Given the description of an element on the screen output the (x, y) to click on. 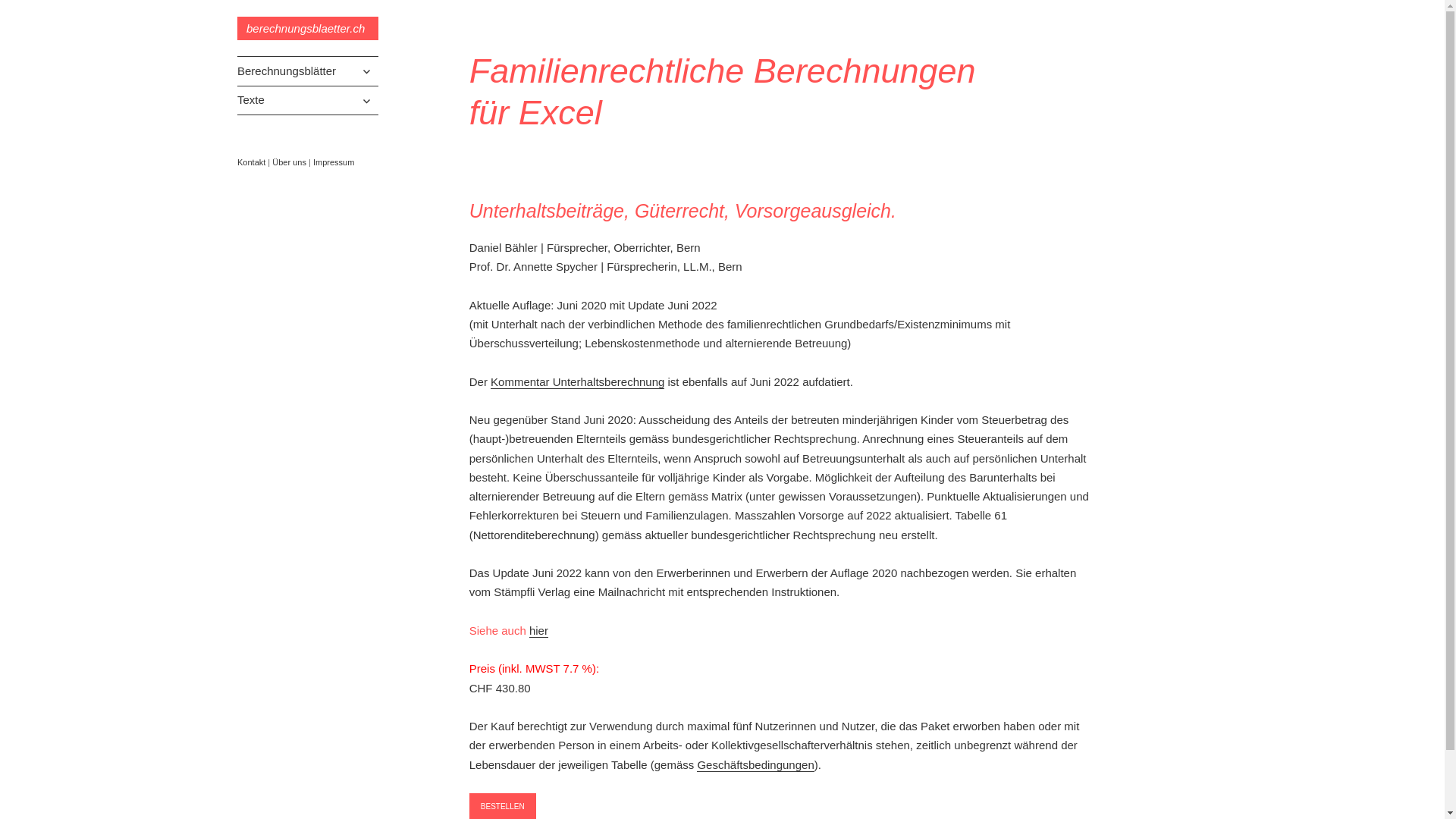
Kontakt Element type: text (251, 161)
Texte Element type: text (307, 100)
Impressum Element type: text (333, 161)
berechnungsblaetter.ch Element type: text (307, 28)
Kommentar Unterhaltsberechnung Element type: text (577, 382)
hier Element type: text (538, 630)
